Given the description of an element on the screen output the (x, y) to click on. 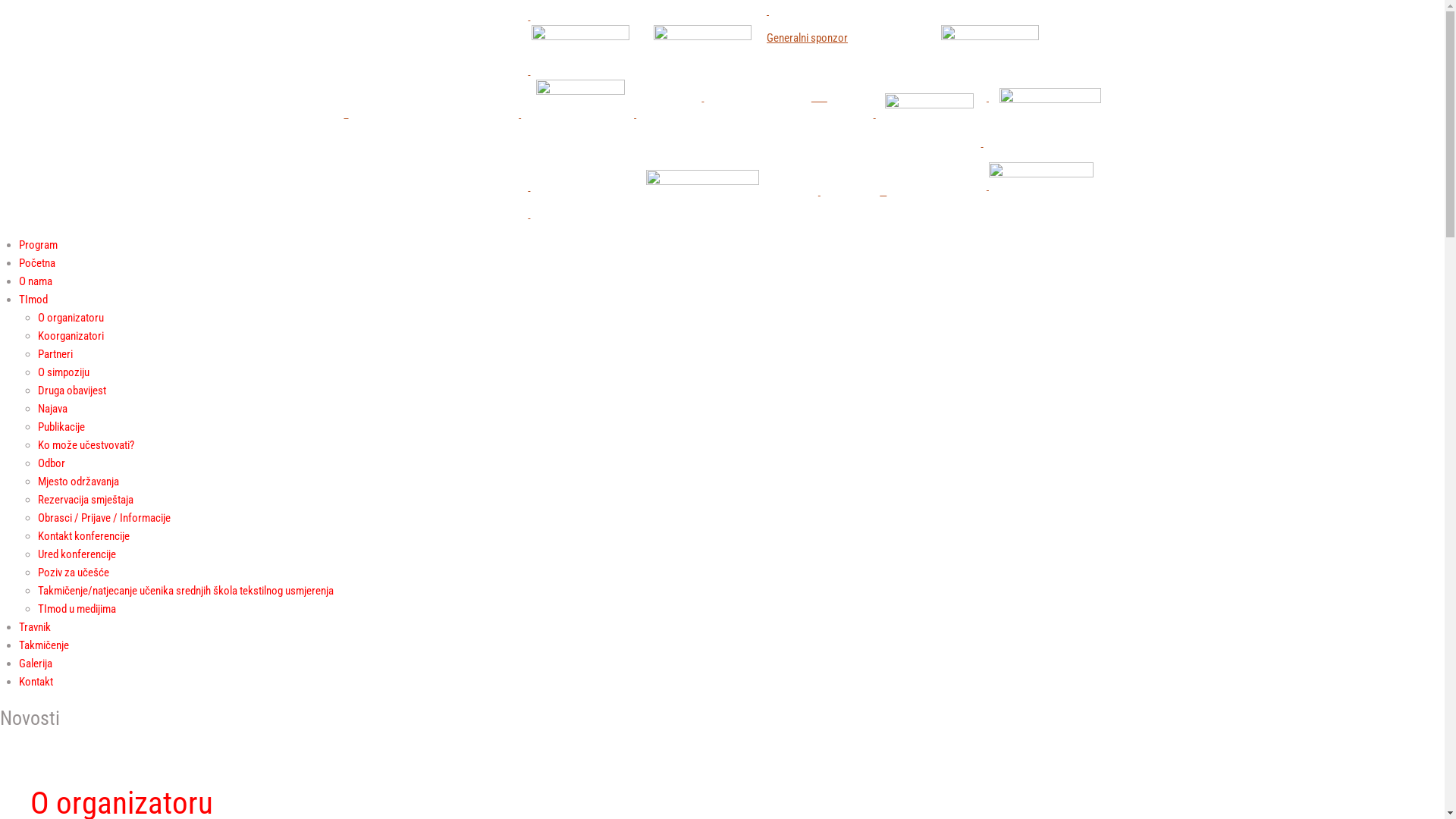
Galerija Element type: text (35, 663)
Partneri Element type: text (54, 353)
Druga obavijest Element type: text (71, 390)
Kontakt Element type: text (35, 681)
Obrasci / Prijave / Informacije Element type: text (103, 517)
Program Element type: text (37, 244)
O simpoziju Element type: text (63, 372)
Kontakt konferencije Element type: text (83, 535)
TImod Element type: text (32, 299)
Ured konferencije Element type: text (76, 554)
O nama Element type: text (35, 281)
TImod u medijima Element type: text (76, 608)
O organizatoru Element type: text (70, 317)
Najava Element type: text (52, 408)
Travnik Element type: text (34, 626)
Odbor Element type: text (51, 463)
Publikacije Element type: text (60, 426)
        
  Generalni sponzor
 
                            Element type: text (722, 117)
Koorganizatori Element type: text (70, 335)
